Given the description of an element on the screen output the (x, y) to click on. 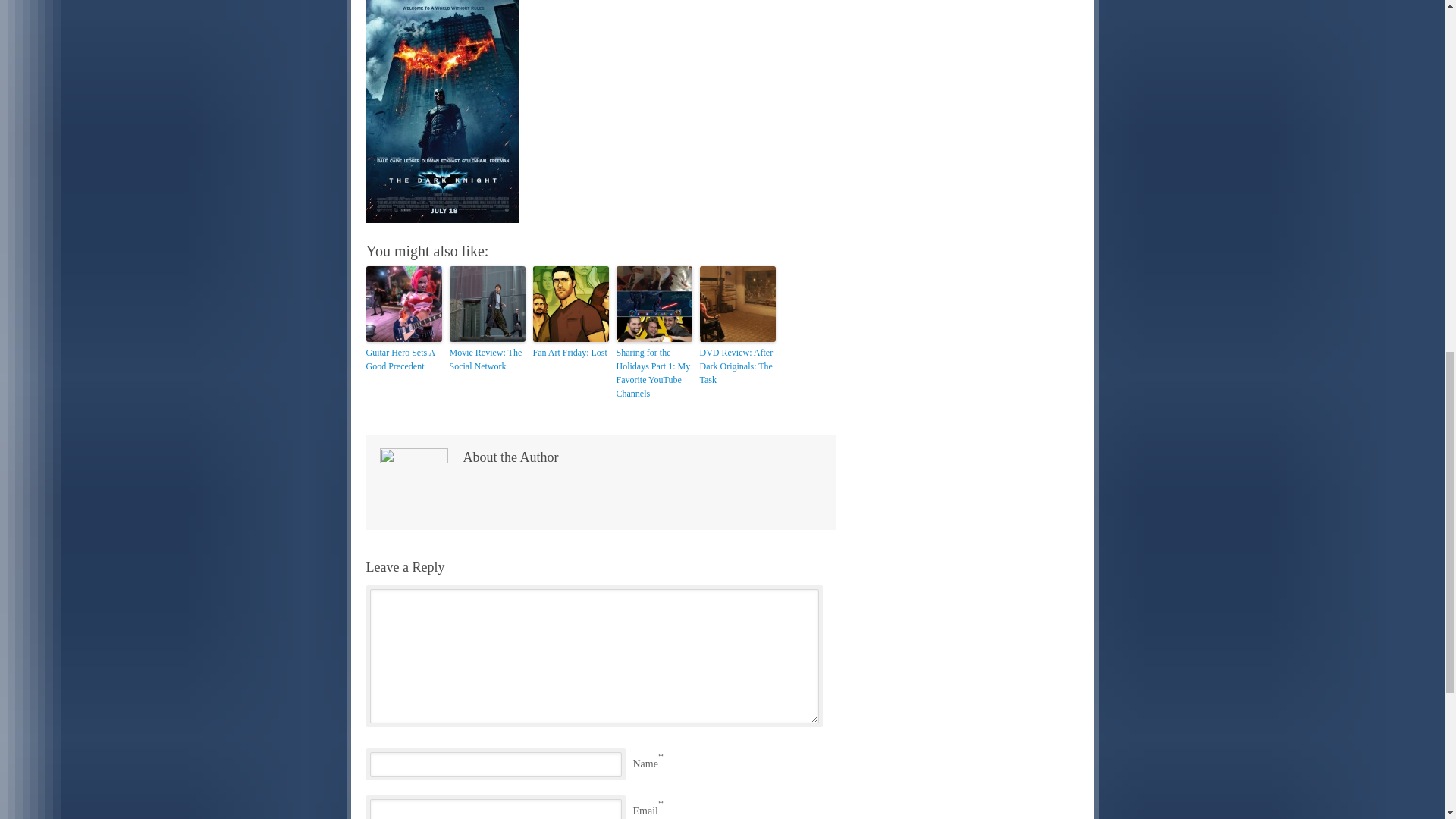
Movie Review: The Social Network (486, 359)
Fan Art Friday: Lost (570, 352)
Guitar Hero Sets A Good Precedent (403, 359)
DVD Review: After Dark Originals: The Task (736, 365)
